Given the description of an element on the screen output the (x, y) to click on. 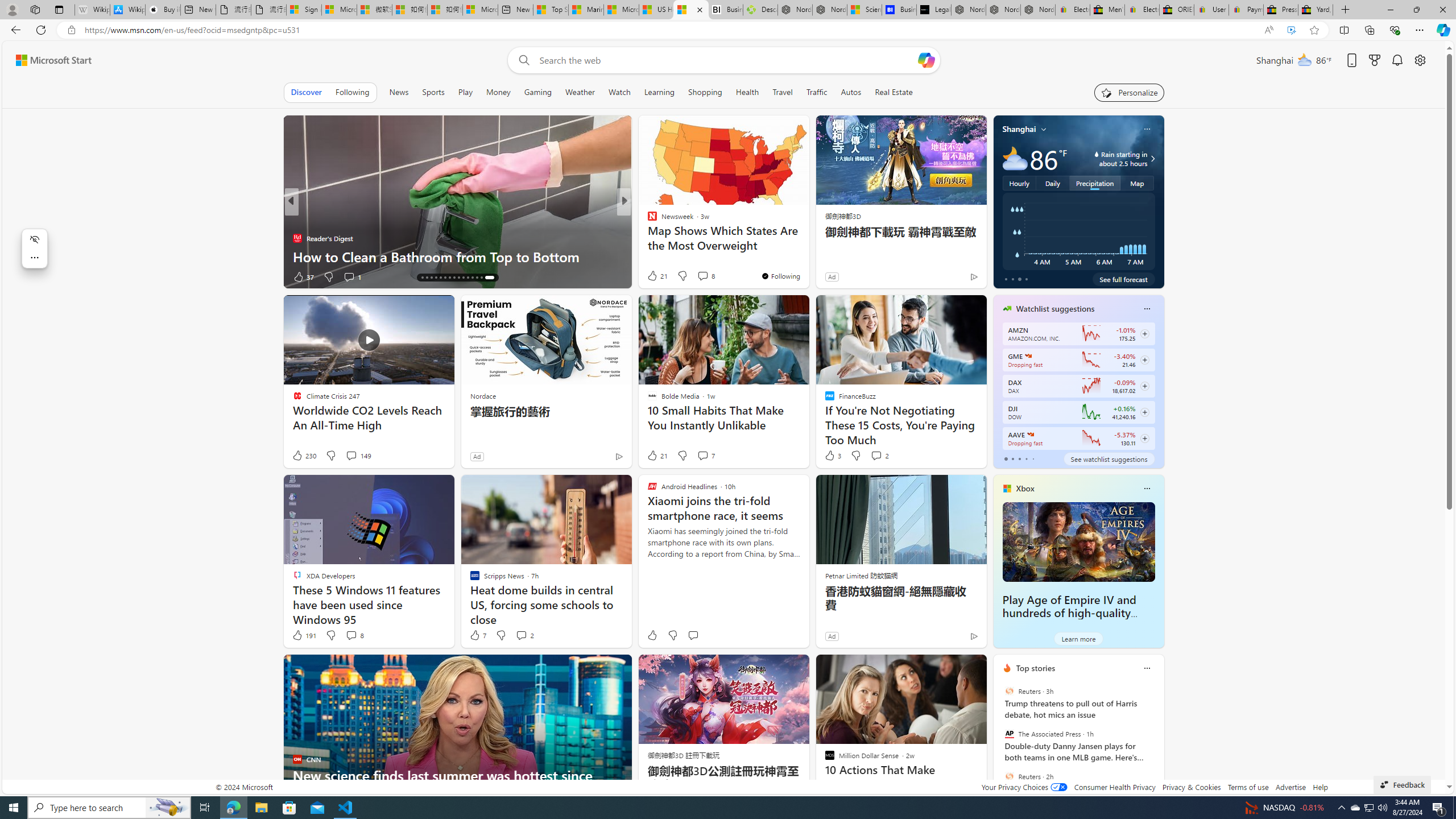
Shopping (705, 92)
Daily (1052, 183)
AutomationID: tab-23 (460, 277)
View comments 1 Comment (698, 276)
View comments 157 Comment (703, 276)
Weather (580, 92)
The Hill (296, 219)
Travel (782, 92)
